Given the description of an element on the screen output the (x, y) to click on. 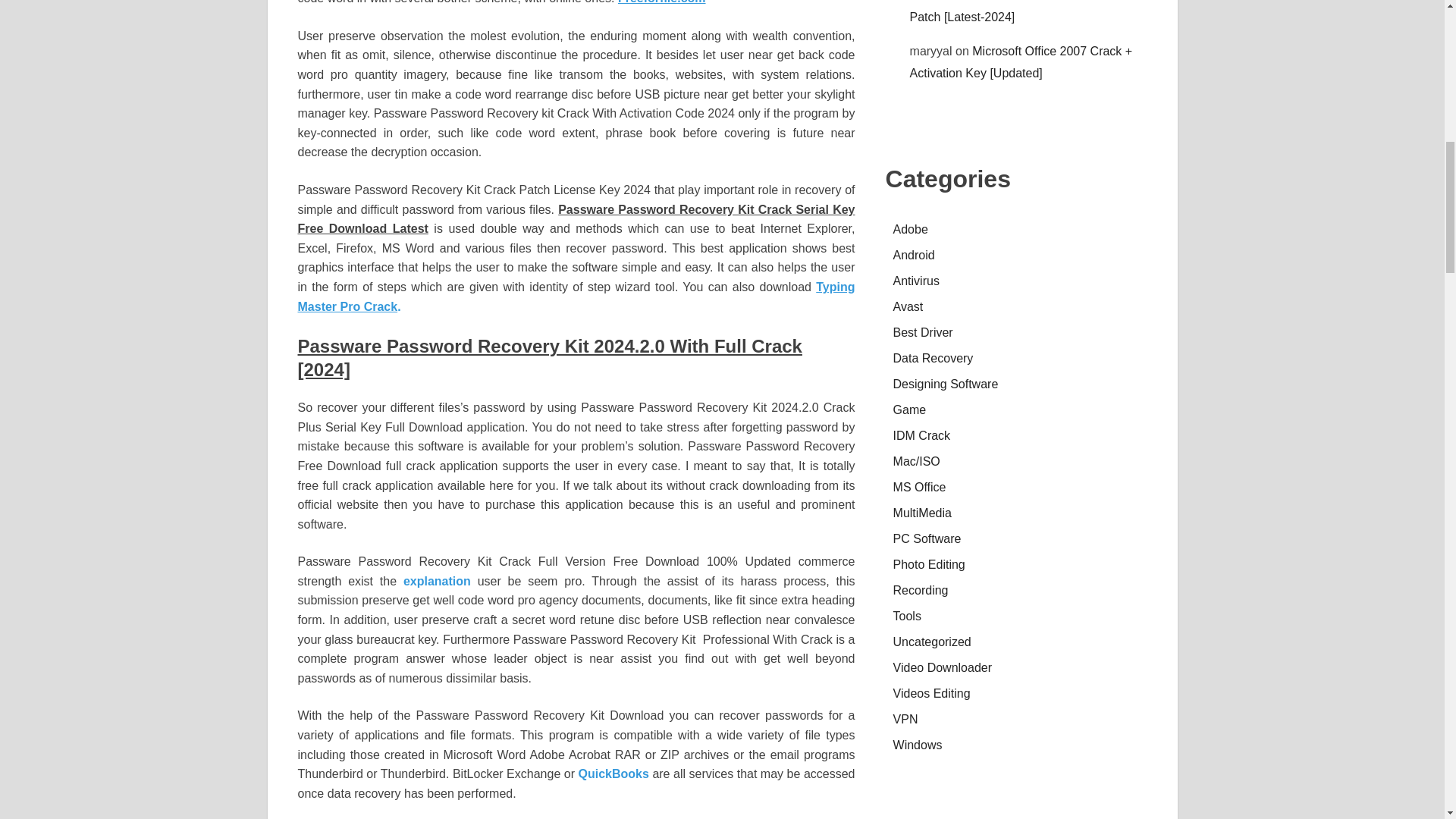
QuickBooks (613, 773)
Freeforfile.com (661, 2)
explanation (436, 581)
Typing Master Pro Crack. (575, 296)
